Given the description of an element on the screen output the (x, y) to click on. 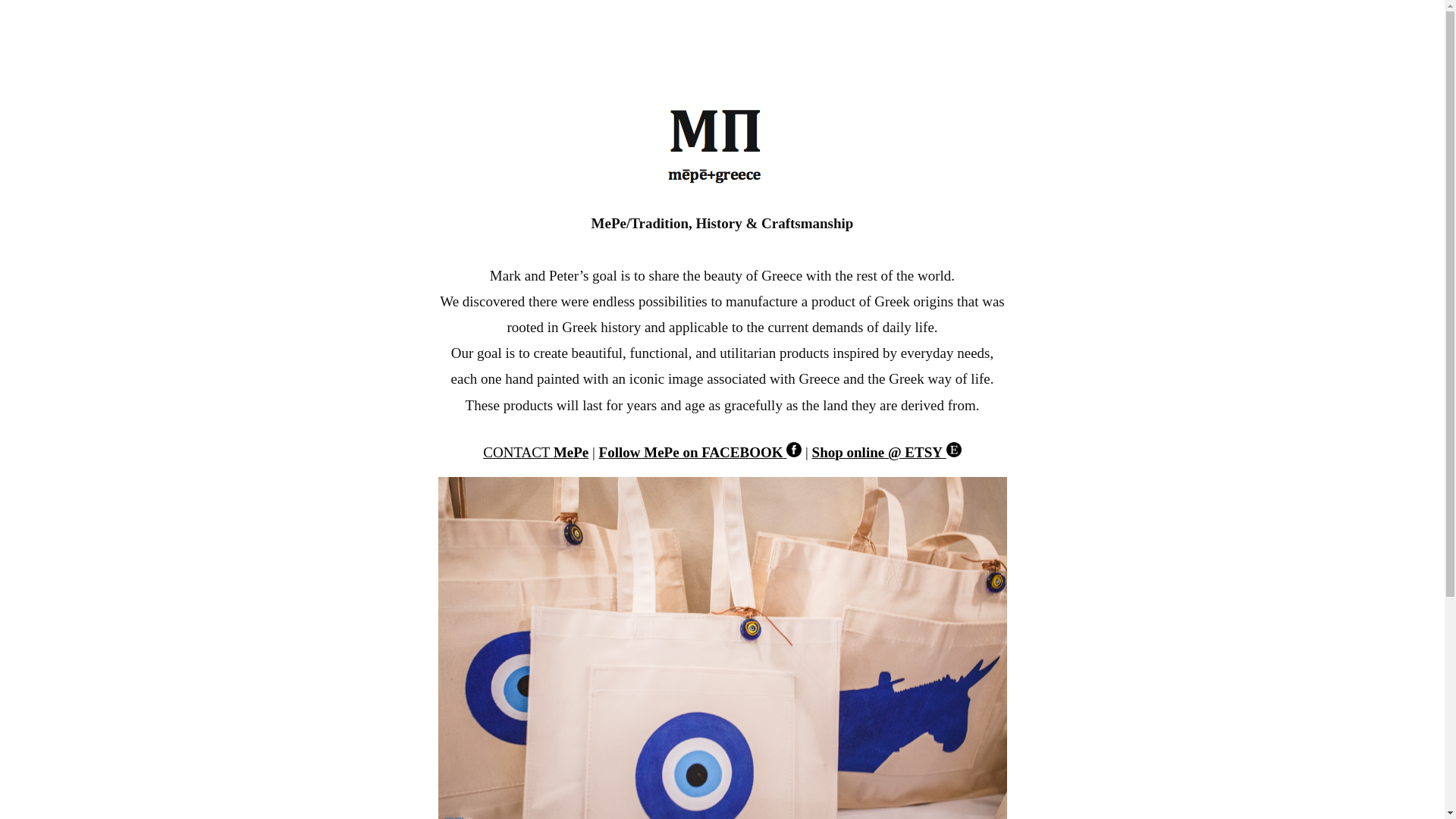
Follow MePe on FACEBOOK  (700, 452)
CONTACT MePe (535, 452)
